Given the description of an element on the screen output the (x, y) to click on. 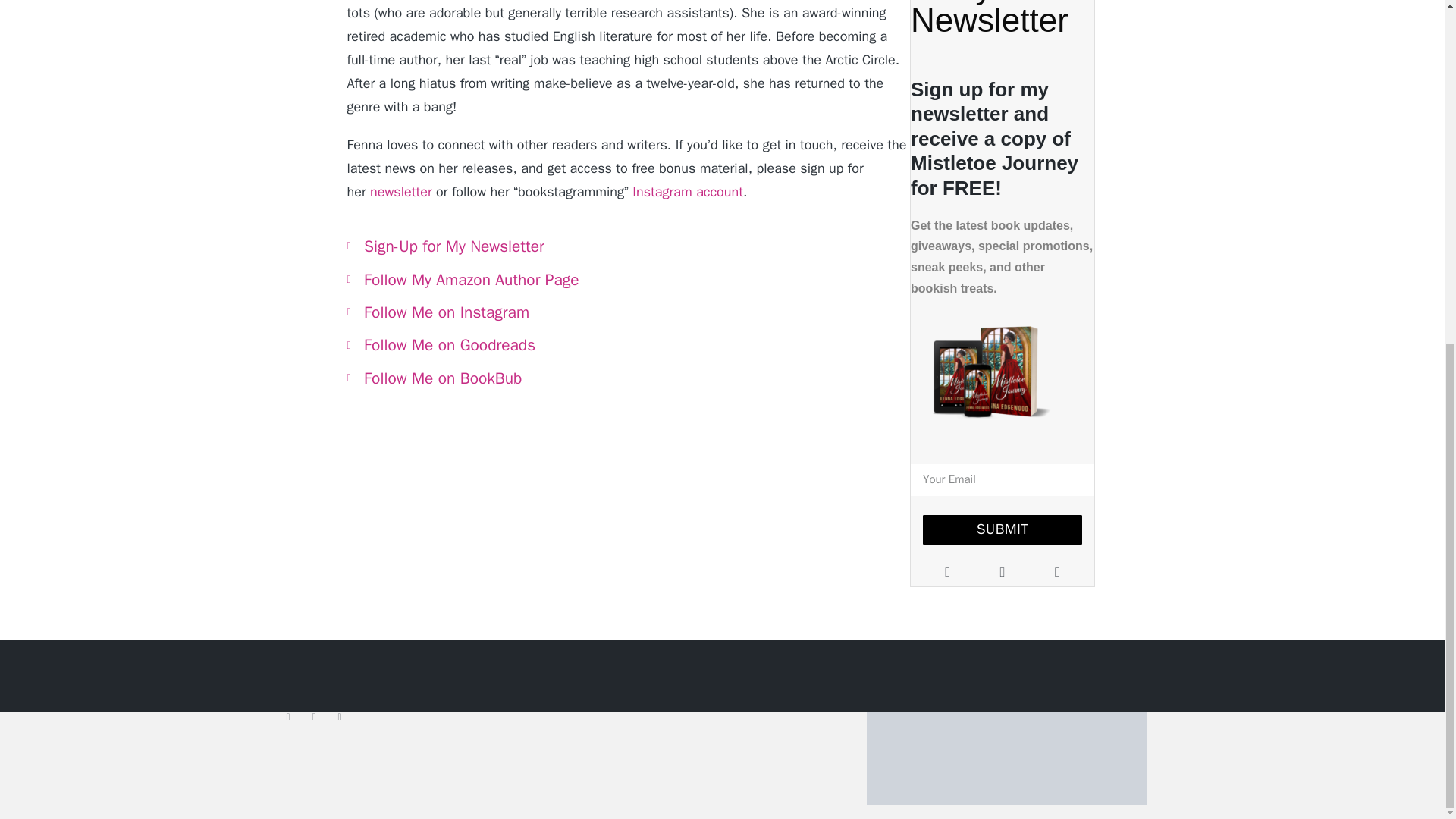
SUBMIT (1002, 530)
Follow Me on Goodreads (629, 344)
 Instagram account (685, 191)
newsletter (400, 191)
Follow Me on Instagram (629, 311)
Follow Me on BookBub (629, 378)
Sign-Up for My Newsletter (629, 246)
Follow My Amazon Author Page (629, 279)
